Given the description of an element on the screen output the (x, y) to click on. 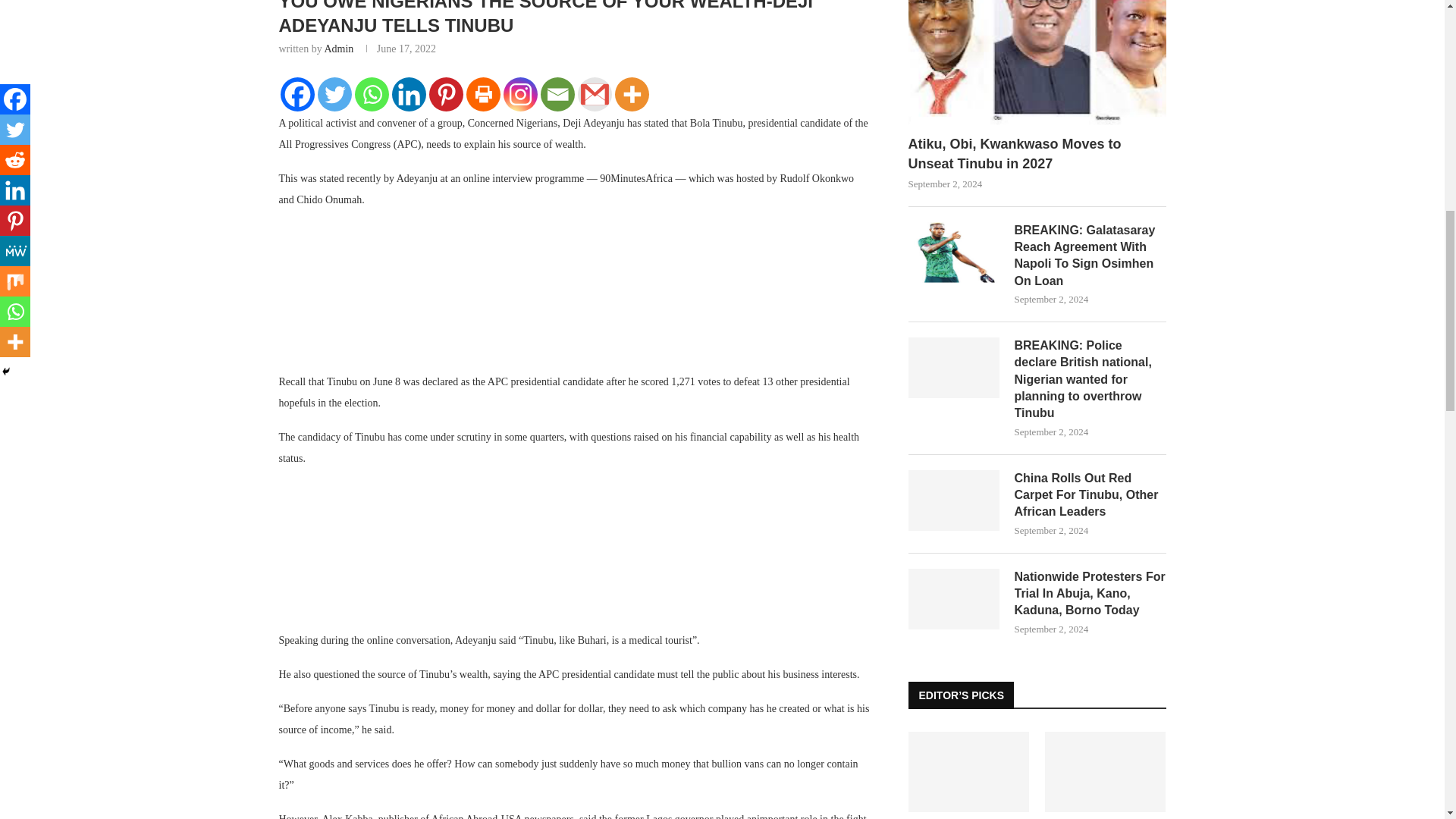
Email (556, 93)
Linkedin (408, 93)
Facebook (297, 93)
Twitter (333, 93)
Pinterest (446, 93)
Instagram (520, 93)
Whatsapp (371, 93)
Print (482, 93)
